Given the description of an element on the screen output the (x, y) to click on. 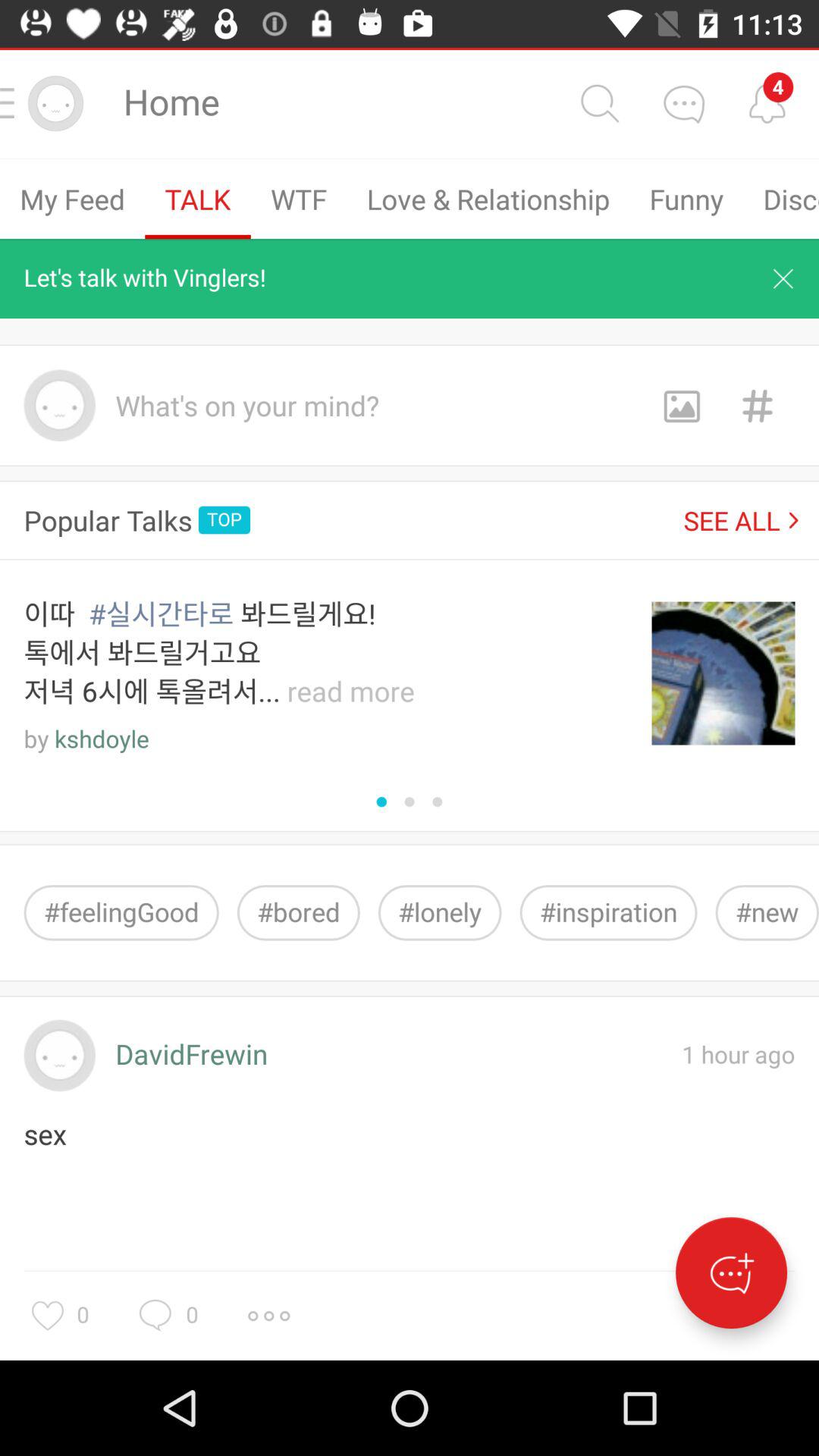
open settings menu (268, 1315)
